Given the description of an element on the screen output the (x, y) to click on. 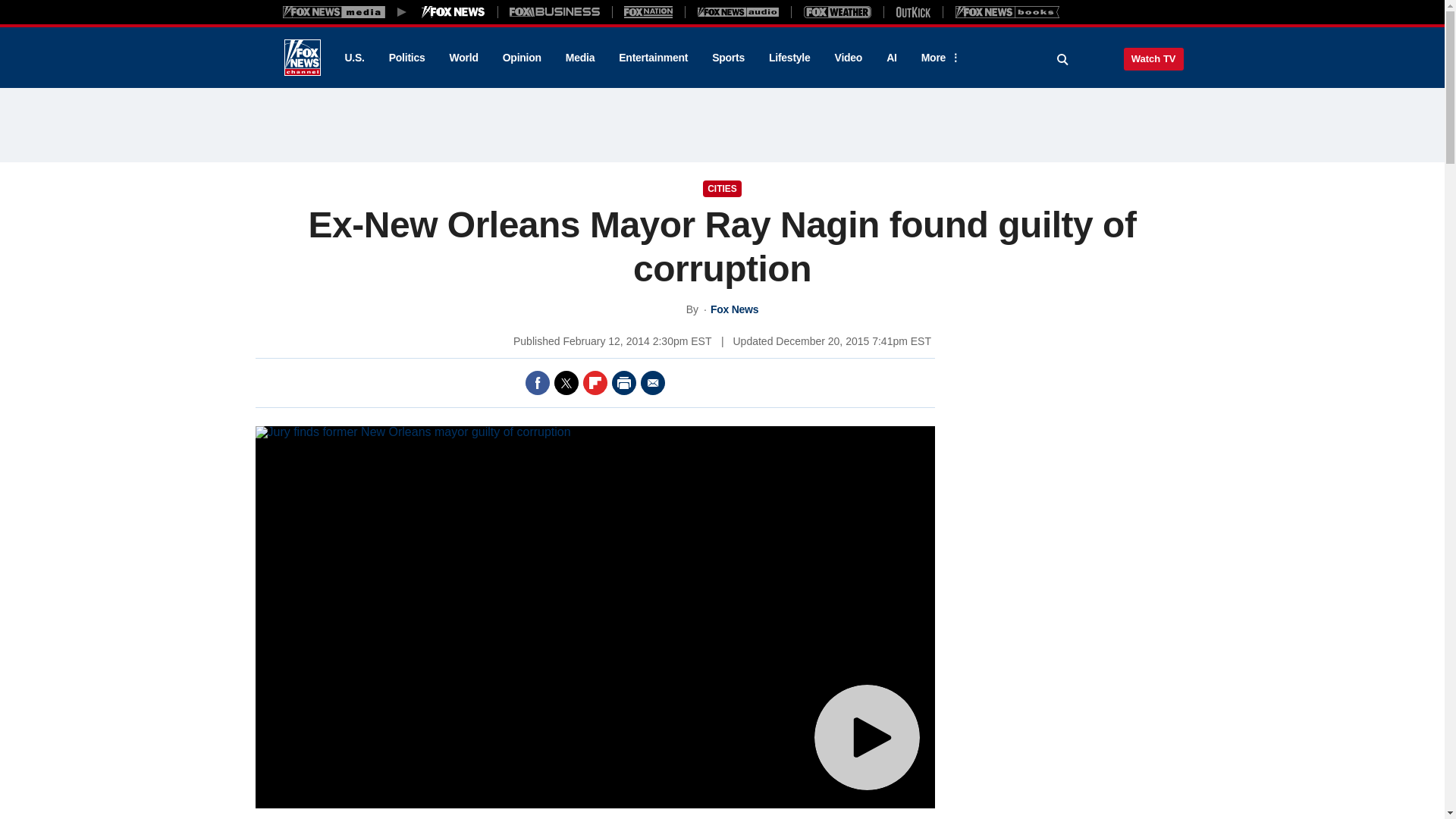
Watch TV (1153, 58)
Fox Weather (836, 11)
Fox Nation (648, 11)
Sports (728, 57)
Politics (407, 57)
Media (580, 57)
Books (1007, 11)
Video (848, 57)
Opinion (521, 57)
Fox News Audio (737, 11)
World (464, 57)
Fox News (301, 57)
More (938, 57)
Entertainment (653, 57)
Fox Business (554, 11)
